Given the description of an element on the screen output the (x, y) to click on. 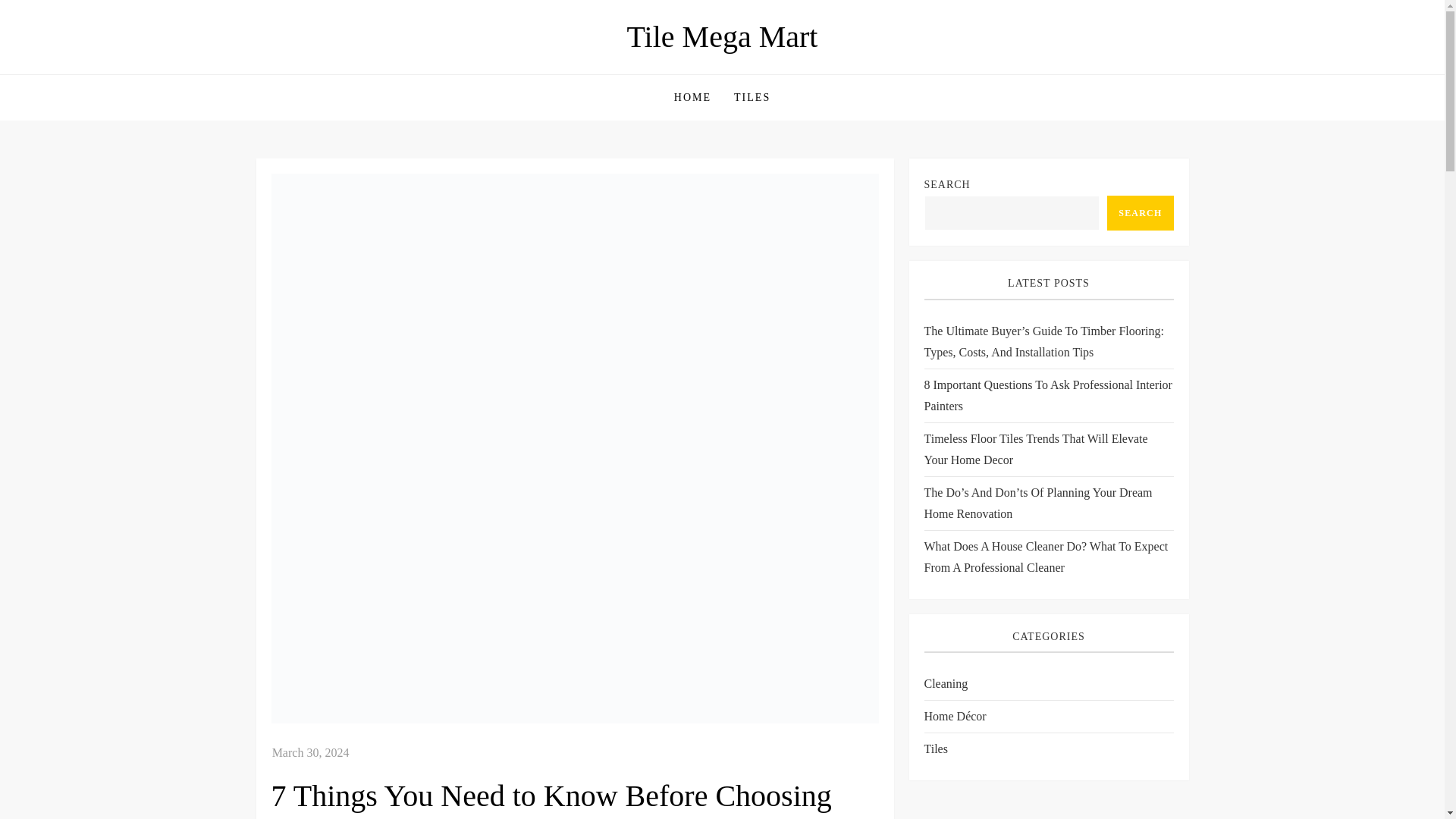
TILES (751, 97)
March 30, 2024 (310, 752)
Tiles (935, 749)
HOME (692, 97)
Cleaning (945, 683)
8 Important Questions To Ask Professional Interior Painters (1048, 395)
Tile Mega Mart (722, 36)
SEARCH (1139, 212)
